Given the description of an element on the screen output the (x, y) to click on. 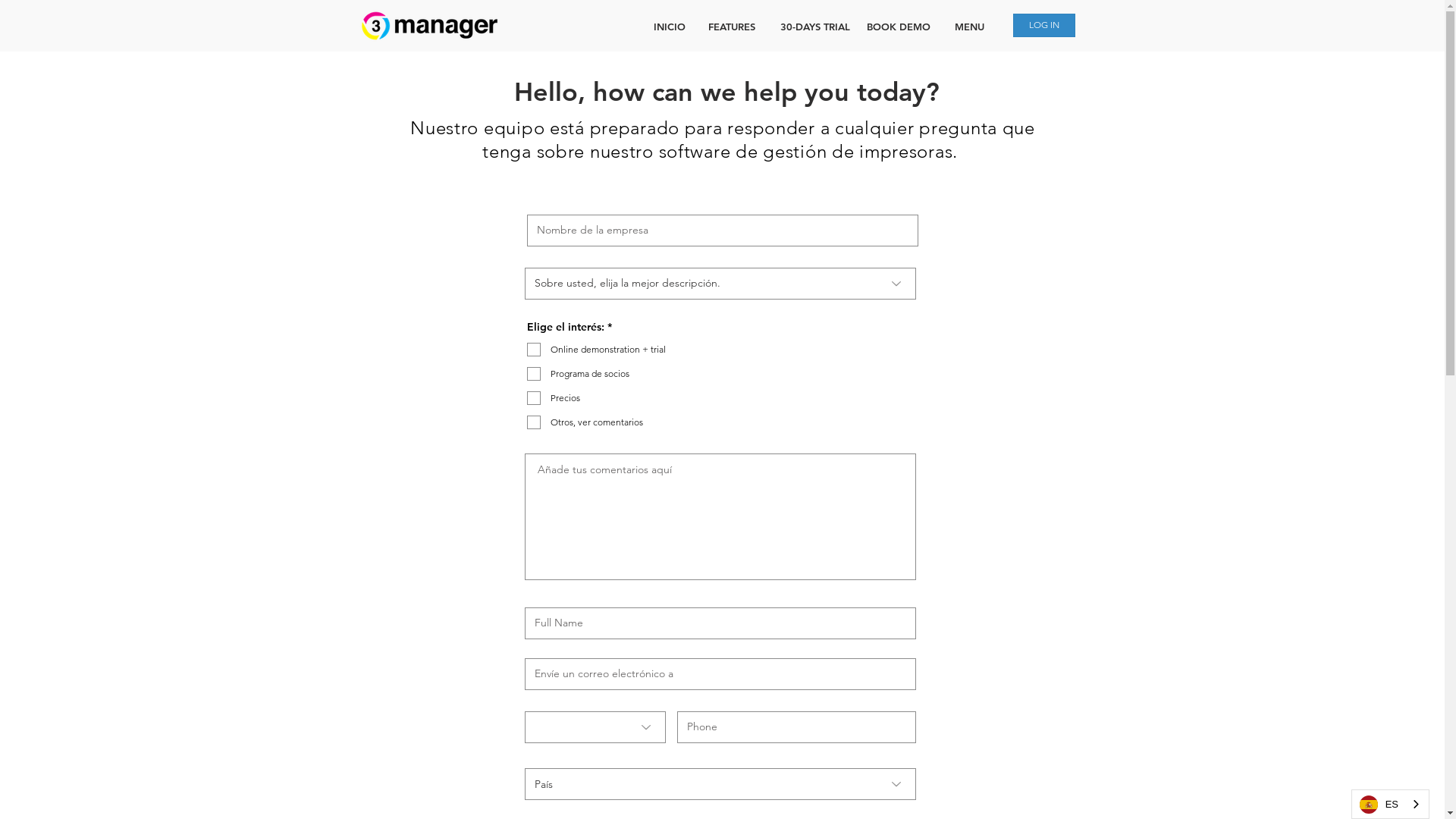
LOG IN Element type: text (1044, 25)
FEATURES Element type: text (731, 26)
BOOK DEMO Element type: text (897, 26)
INICIO Element type: text (669, 26)
ES Element type: text (1390, 804)
MENU Element type: text (968, 26)
30-DAYS TRIAL Element type: text (814, 26)
